Given the description of an element on the screen output the (x, y) to click on. 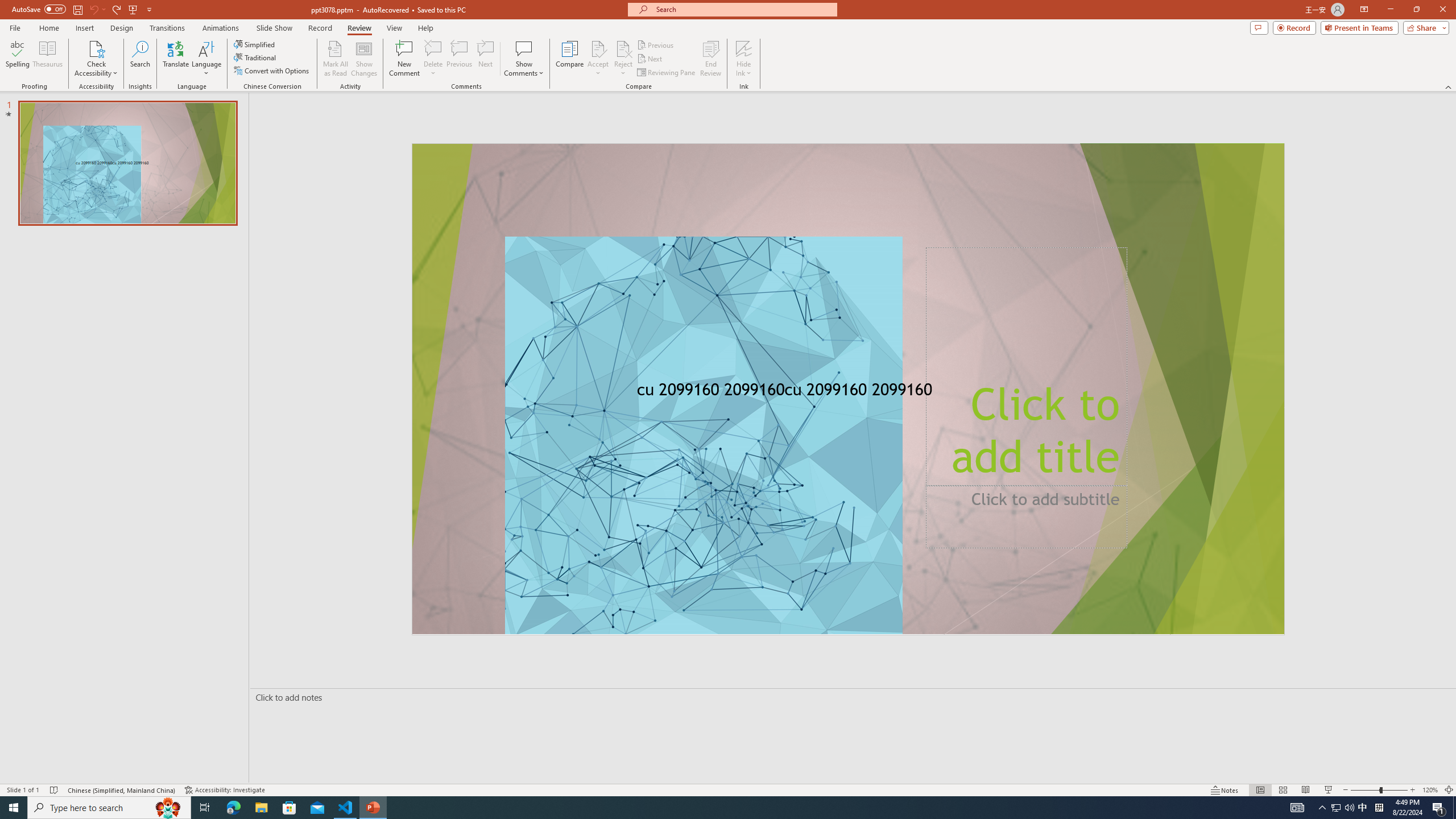
Convert with Options... (272, 69)
Accept Change (598, 48)
Reviewing Pane (666, 72)
Previous (655, 44)
New Comment (403, 58)
Translate (175, 58)
